Given the description of an element on the screen output the (x, y) to click on. 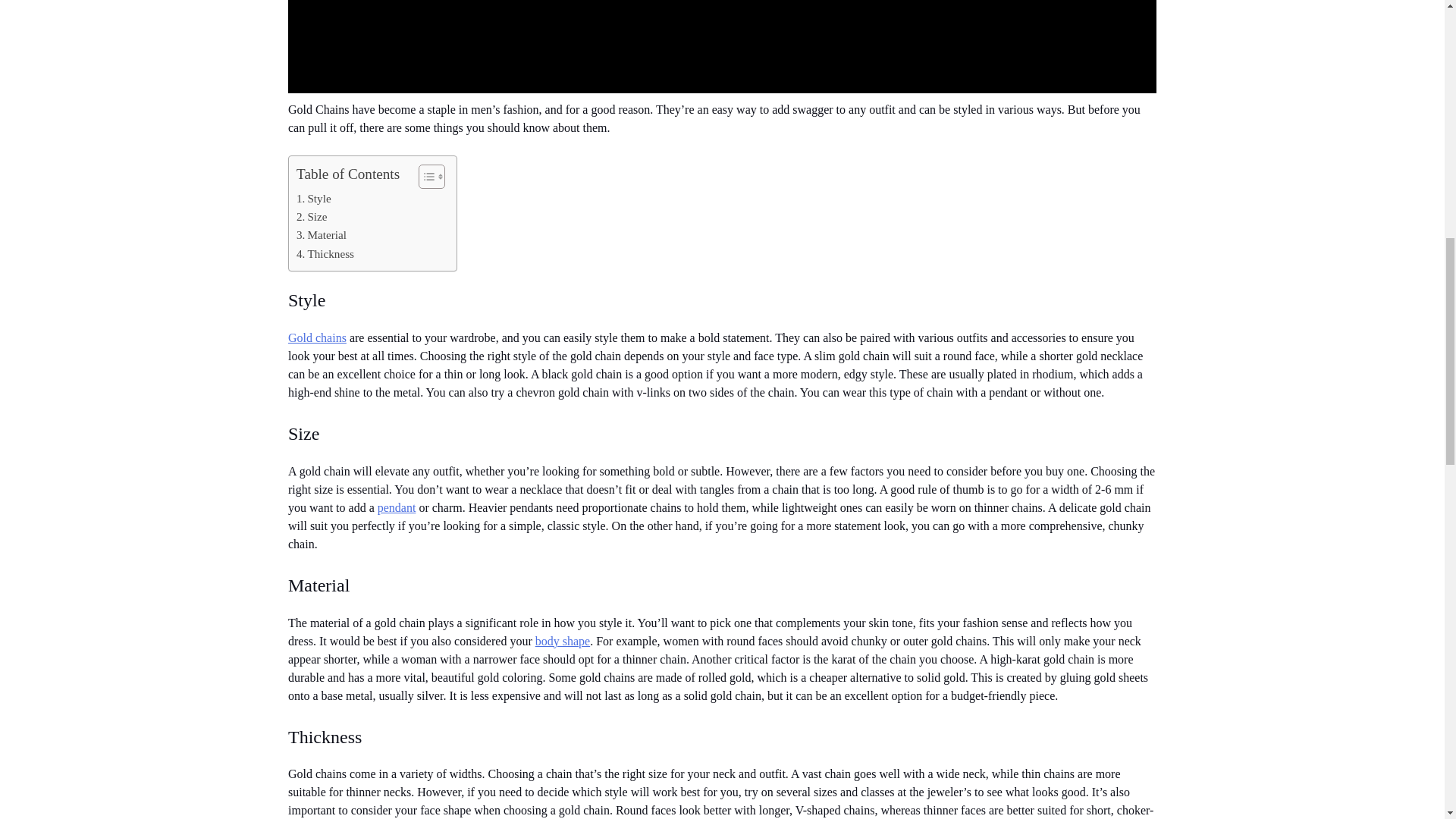
Material (321, 235)
Size (312, 217)
Style (314, 198)
Thickness (325, 253)
